Given the description of an element on the screen output the (x, y) to click on. 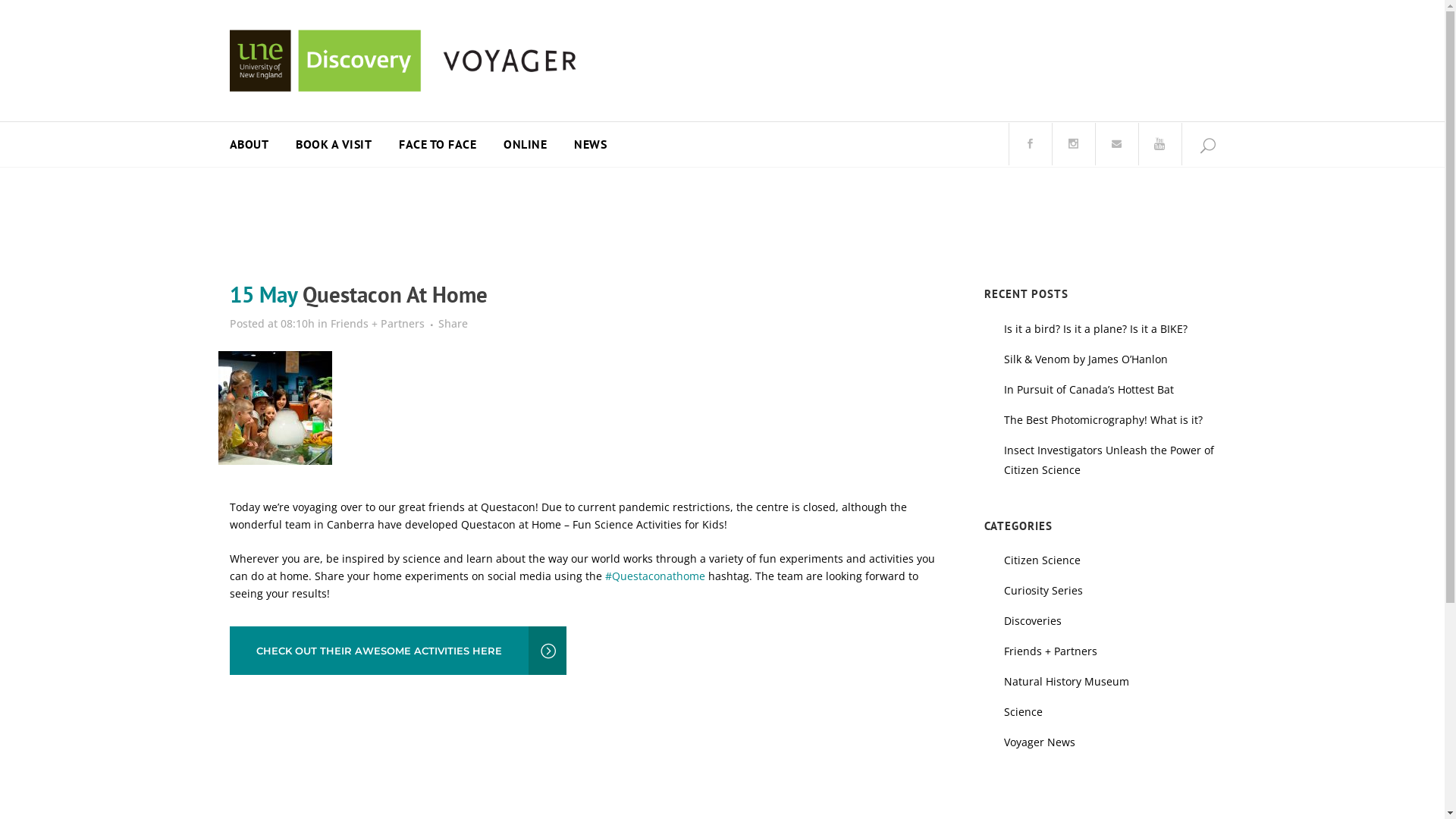
Share Element type: text (452, 323)
Is it a bird? Is it a plane? Is it a BIKE? Element type: text (1095, 328)
Friends + Partners Element type: text (377, 323)
BOOK A VISIT Element type: text (333, 143)
ABOUT Element type: text (255, 143)
Friends + Partners Element type: text (1050, 650)
#Questaconathome Element type: text (655, 575)
ONLINE Element type: text (524, 143)
CHECK OUT THEIR AWESOME ACTIVITIES HERE Element type: text (397, 650)
Natural History Museum Element type: text (1066, 681)
NEWS Element type: text (590, 143)
Citizen Science Element type: text (1042, 559)
Curiosity Series Element type: text (1043, 590)
FACE TO FACE Element type: text (437, 143)
Science Element type: text (1023, 711)
Voyager News Element type: text (1039, 741)
The Best Photomicrography! What is it? Element type: text (1103, 419)
Insect Investigators Unleash the Power of Citizen Science Element type: text (1109, 459)
Discoveries Element type: text (1032, 620)
